Given the description of an element on the screen output the (x, y) to click on. 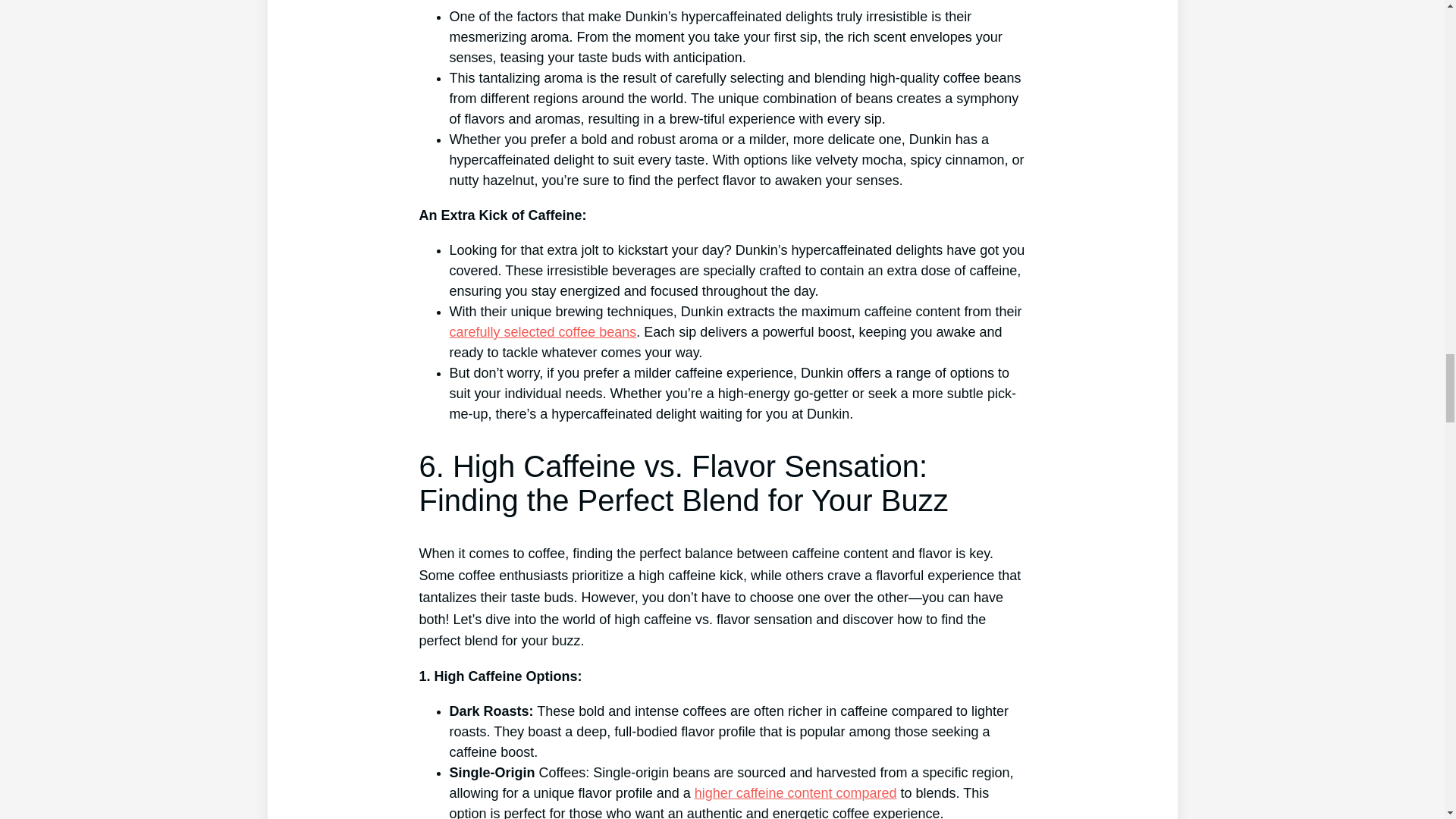
How Much Caffeine Is in Black Rifle Coffee? Rifle Insights (795, 792)
